Given the description of an element on the screen output the (x, y) to click on. 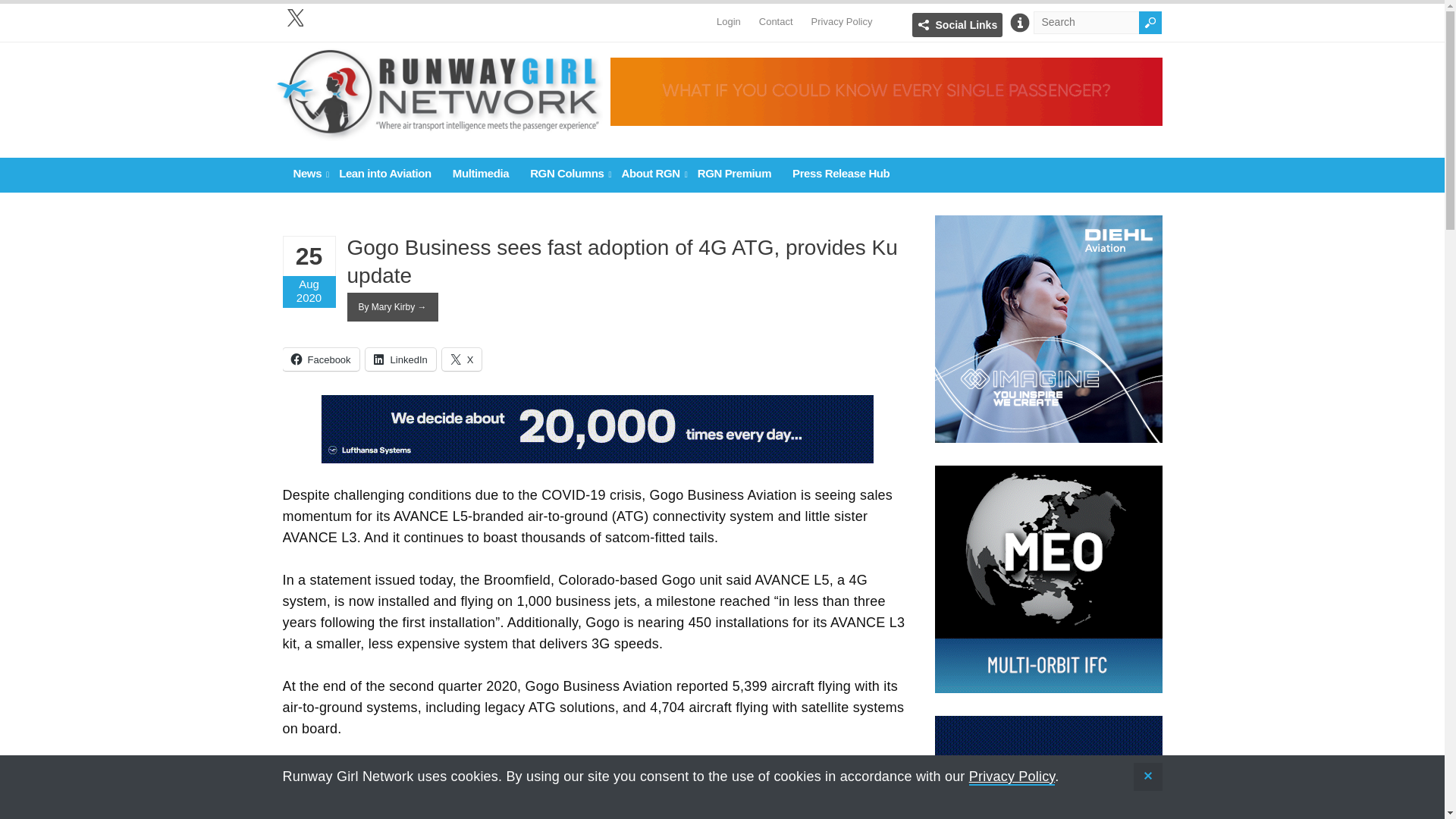
Click to share on LinkedIn (400, 359)
Click to share on X (461, 359)
Login (728, 14)
Runway Girl (438, 133)
Click to share on Facebook (320, 359)
Search (1149, 22)
